Given the description of an element on the screen output the (x, y) to click on. 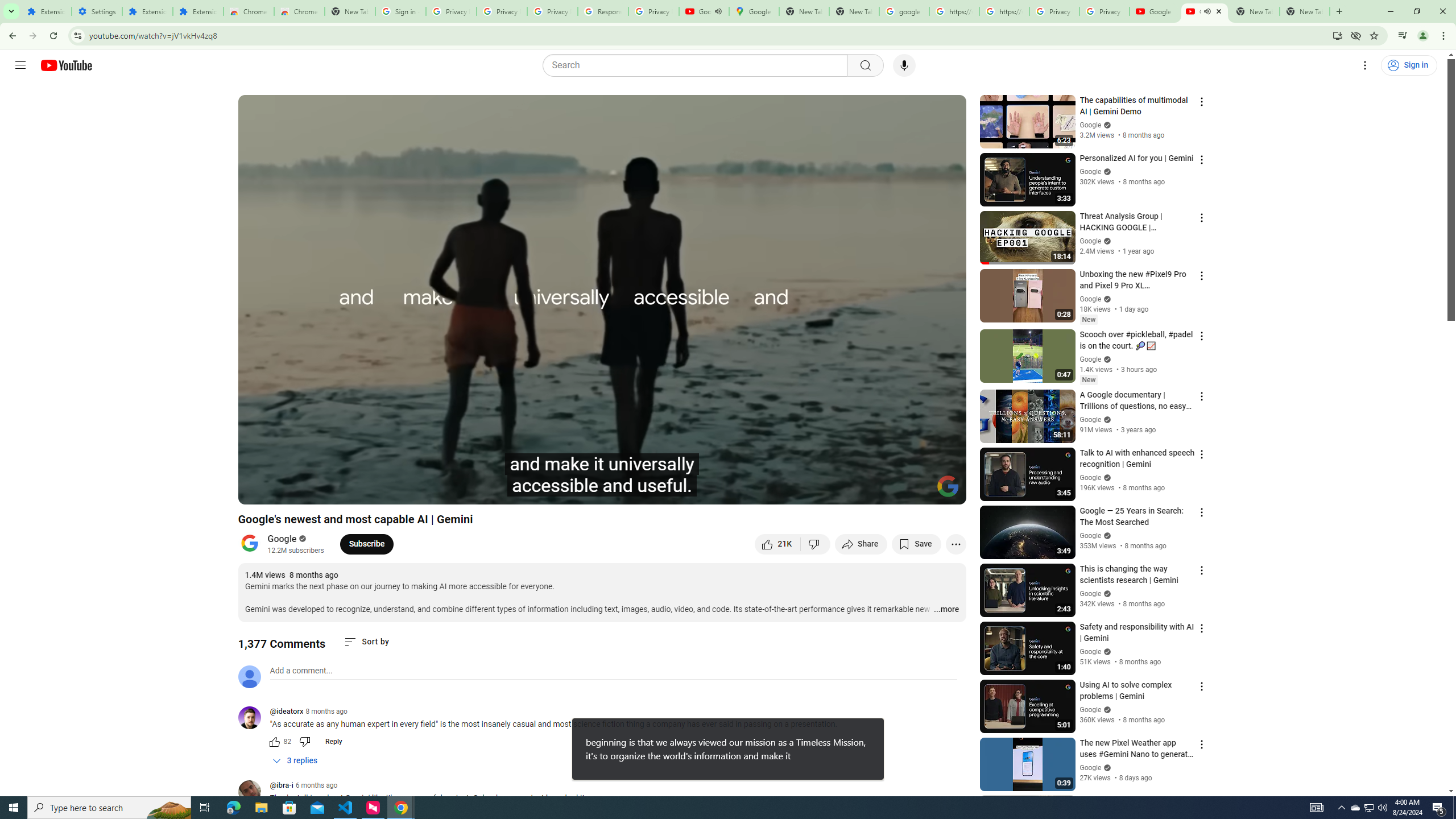
Search (865, 65)
Default profile photo (248, 676)
Action menu (1200, 802)
Seek slider (601, 476)
Theater mode (t) (917, 490)
Play (k) (257, 490)
Dislike this video (815, 543)
@ideatorx (286, 711)
